Given the description of an element on the screen output the (x, y) to click on. 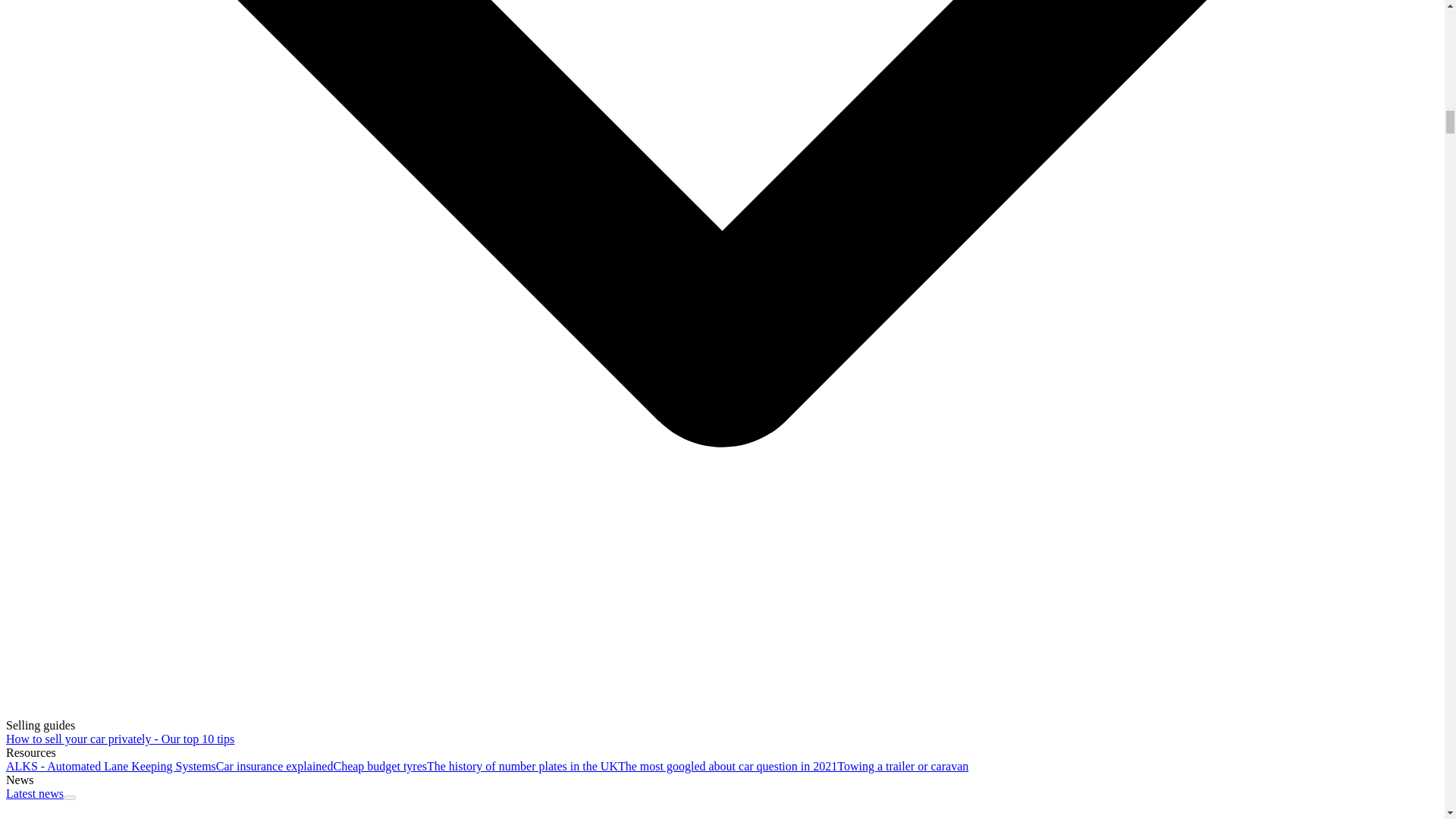
Towing a trailer or caravan (902, 766)
ALKS - Automated Lane Keeping Systems (110, 766)
The history of number plates in the UK (521, 766)
Car Insurance Explained (274, 766)
The most googled about car question in 2021  (727, 766)
Car insurance explained (274, 766)
The most googled about car question in 2021 (727, 766)
Cheap budget tyres (379, 766)
ALKS - Automated Lane Keeping Systems (110, 766)
How to Sell Your Car Privately - Our Top 10 Tips (119, 738)
The history of number plates in the UK (521, 766)
Latest news (34, 793)
How to sell your car privately - Our top 10 tips (119, 738)
Cheap budget tyres (379, 766)
